Given the description of an element on the screen output the (x, y) to click on. 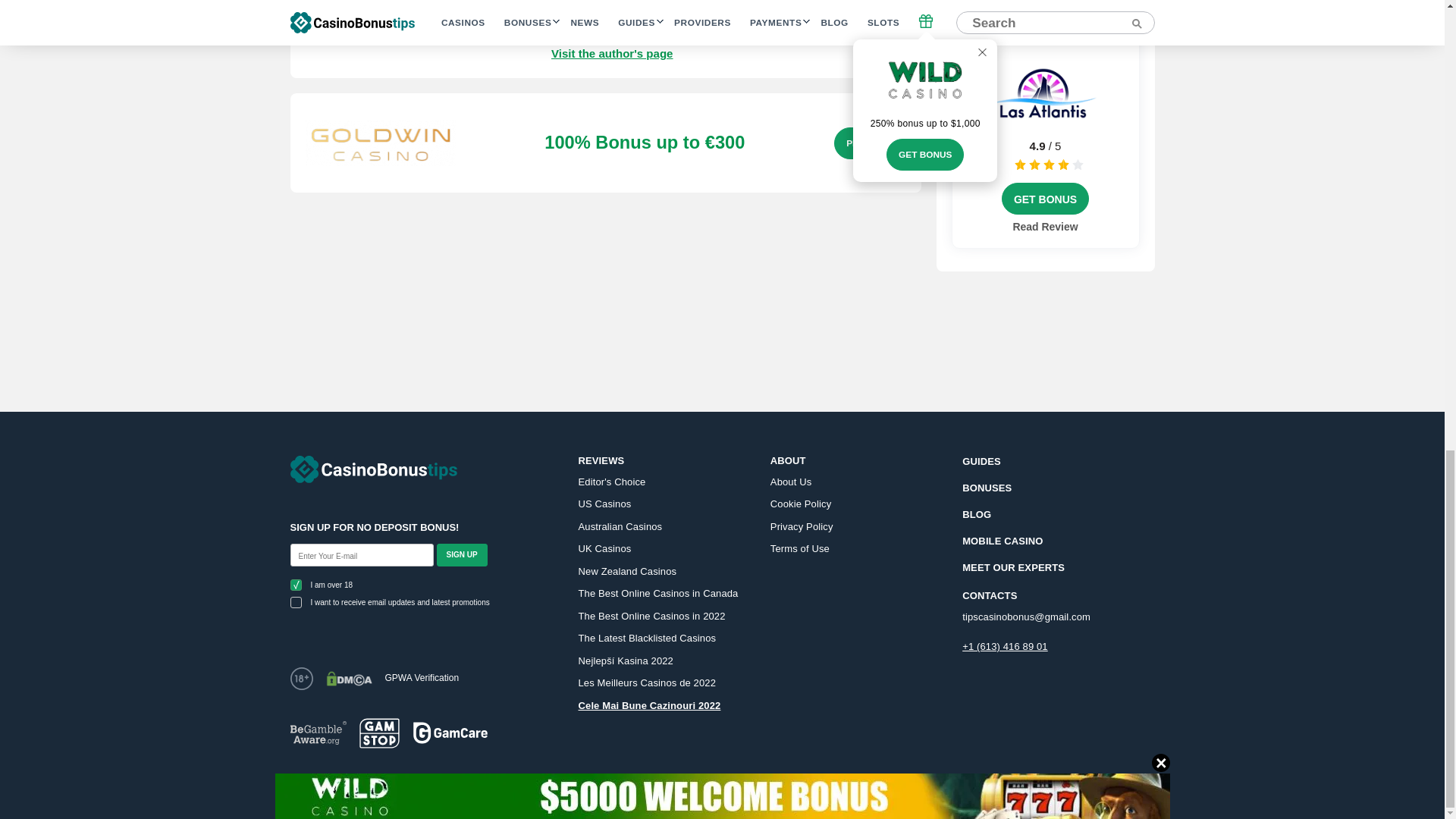
Gam stop (378, 733)
DMCA.com Protection Status (349, 678)
on (295, 602)
on (295, 584)
Be Gamble Aware (317, 732)
Game care (449, 732)
